Given the description of an element on the screen output the (x, y) to click on. 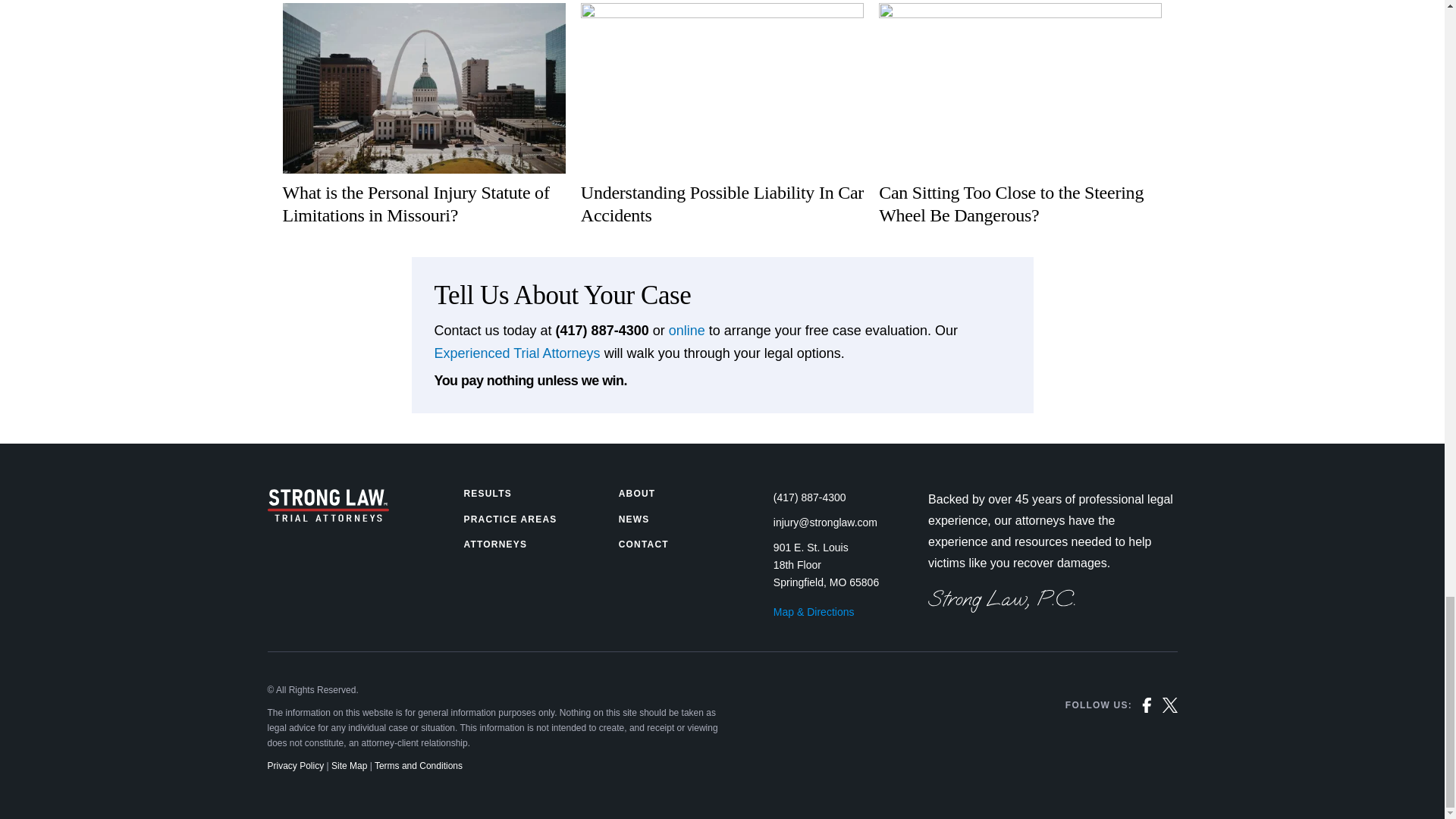
PRACTICE AREAS (509, 519)
Understanding Possible Liability In Car Accidents (721, 114)
ATTORNEYS (495, 543)
Can Sitting Too Close to the Steering Wheel Be Dangerous? (1020, 114)
Terms and Conditions (418, 765)
Understanding Possible Liability In Car Accidents (721, 114)
Site Map (348, 765)
Privacy Policy (294, 765)
